Given the description of an element on the screen output the (x, y) to click on. 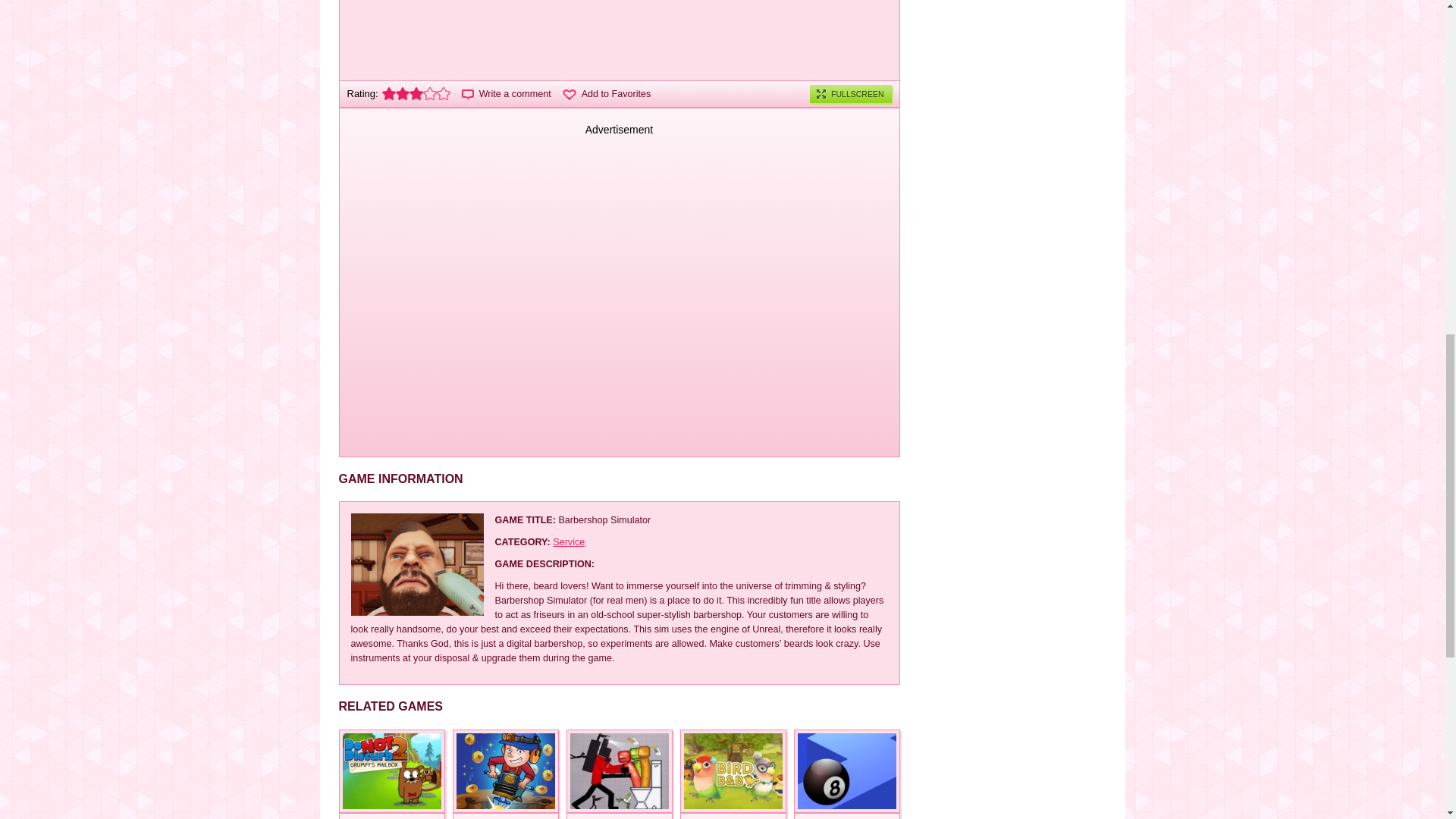
Skibidi Toilet Melon Playground (618, 816)
Merge Miners (504, 816)
3 Stars (416, 92)
5 Stars (442, 92)
Service Games Free (569, 542)
Wall Ball (846, 816)
Write a comment (506, 93)
Bird BnB (732, 816)
4 Stars (429, 92)
Skibidi Toilet Melon Playground (618, 771)
